Given the description of an element on the screen output the (x, y) to click on. 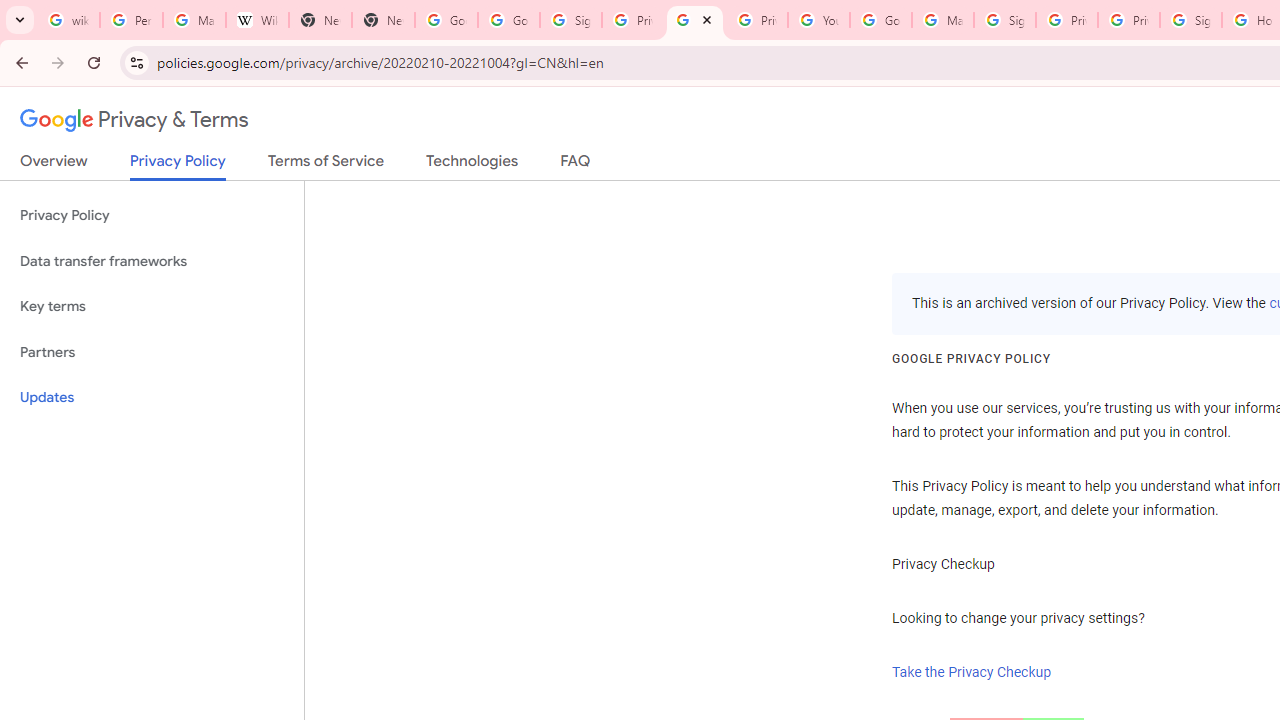
Personalization & Google Search results - Google Search Help (130, 20)
Take the Privacy Checkup (972, 672)
Overview (54, 165)
Google Drive: Sign-in (508, 20)
Updates (152, 398)
Google Account Help (880, 20)
